Given the description of an element on the screen output the (x, y) to click on. 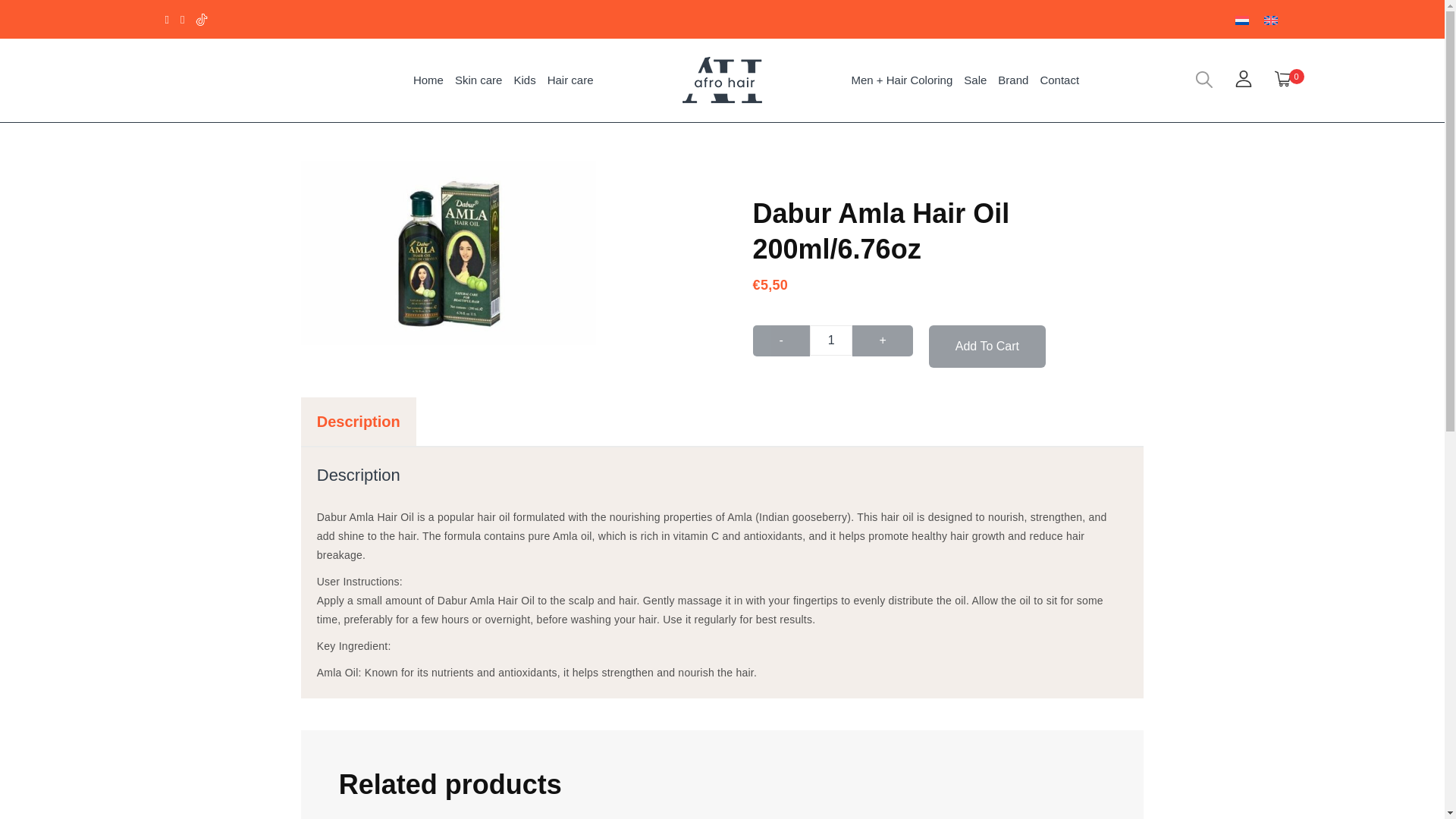
Qty (831, 340)
Dabur Amla Hair Oil 200ml-6.76oz (448, 252)
1 (831, 340)
